Given the description of an element on the screen output the (x, y) to click on. 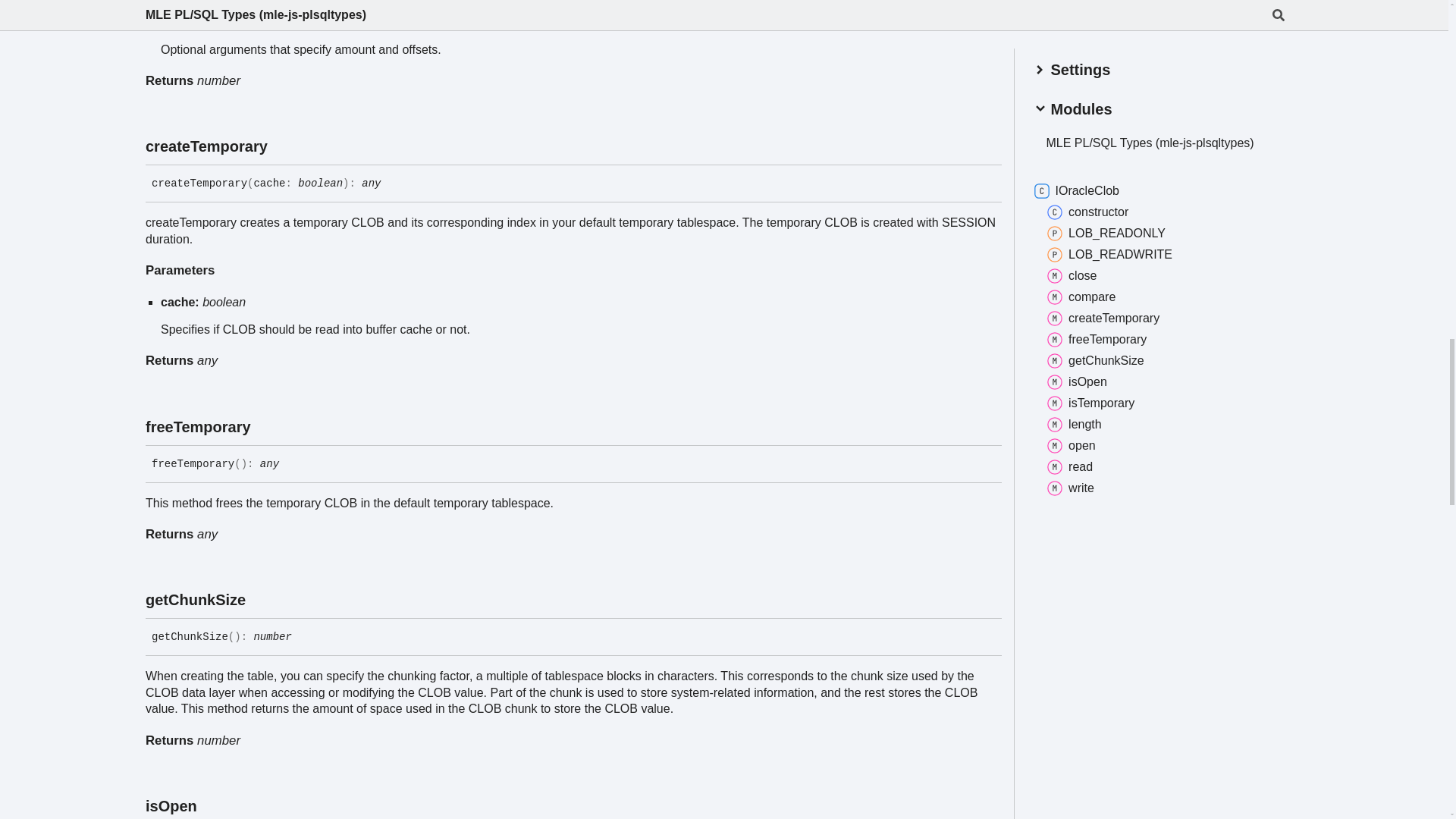
CompareOptionalArguments (346, 21)
